Given the description of an element on the screen output the (x, y) to click on. 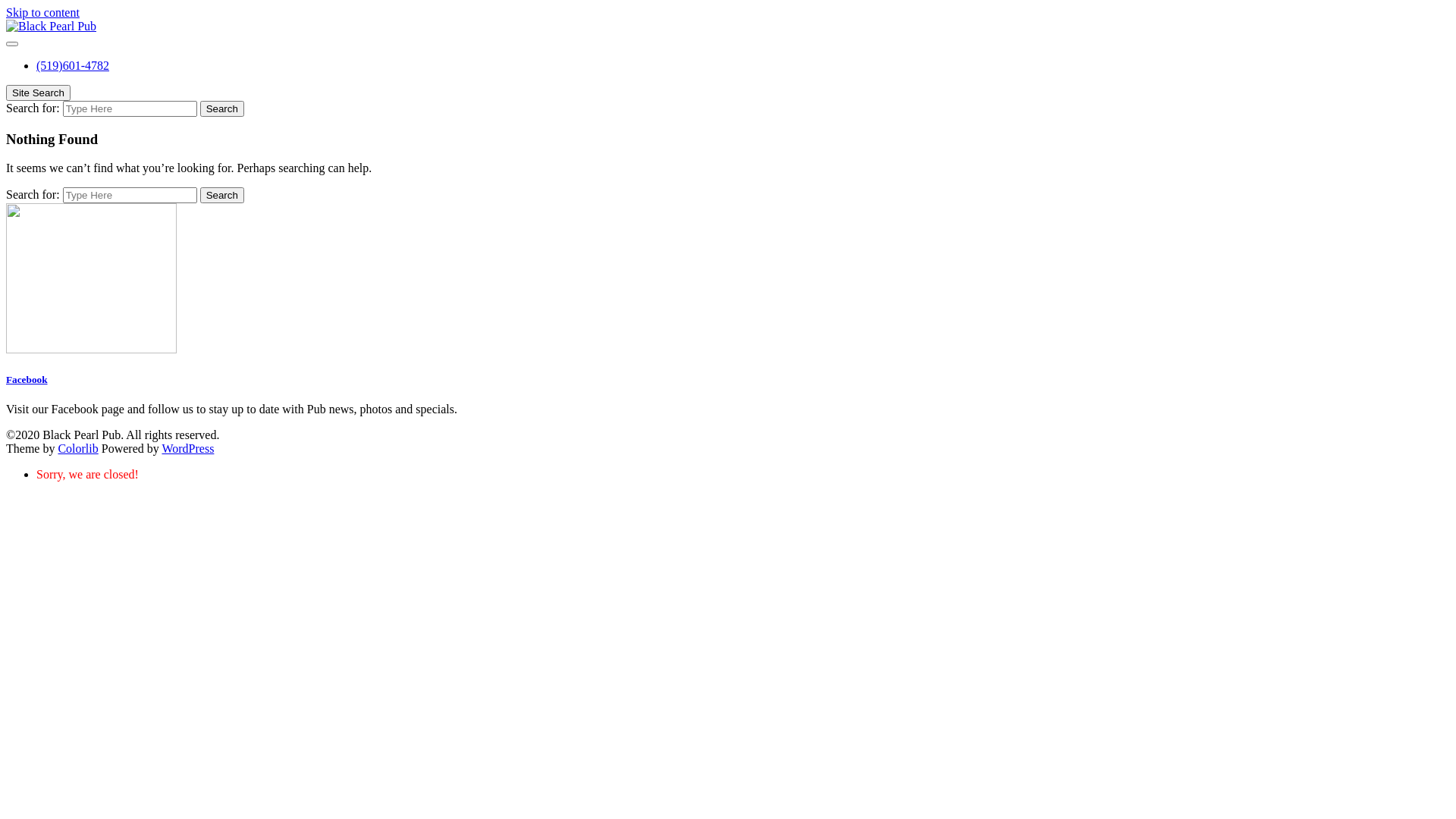
Facebook Element type: text (26, 379)
Site Search Element type: text (38, 92)
Colorlib Element type: text (77, 448)
Skip to content Element type: text (42, 12)
WordPress Element type: text (187, 448)
Search Element type: text (222, 108)
Search Element type: text (222, 195)
(519)601-4782 Element type: text (72, 65)
